Given the description of an element on the screen output the (x, y) to click on. 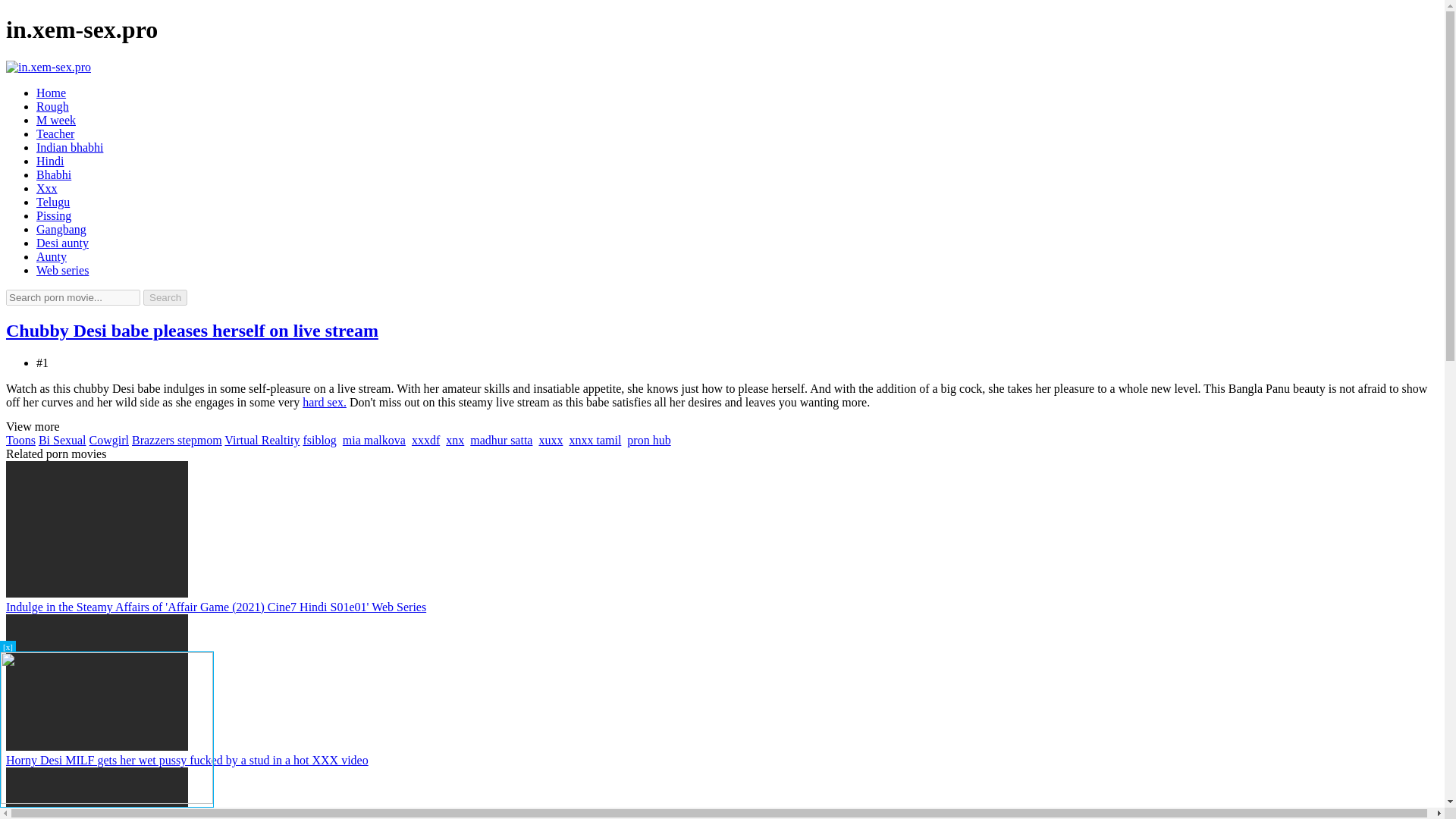
Chubby Desi babe pleases herself on live stream (191, 330)
Cowgirl (108, 440)
Pissing (53, 215)
Bhabhi (53, 174)
Toons (19, 440)
Aunty (51, 256)
in.xem-sex.pro (47, 66)
Chubby Desi babe pleases herself on live stream (191, 330)
Virtual Realtity (261, 440)
Pissing (53, 215)
